Given the description of an element on the screen output the (x, y) to click on. 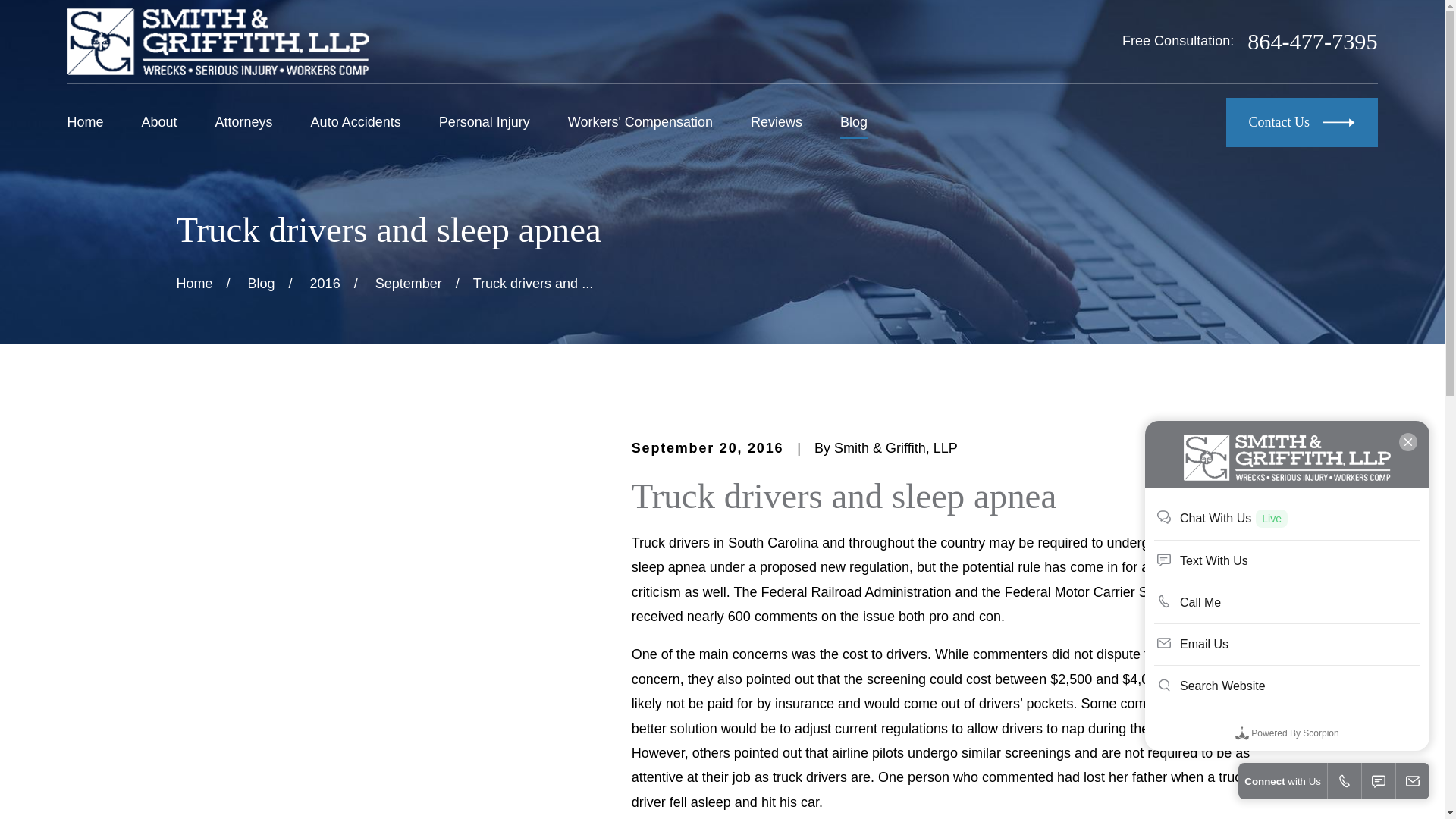
Workers' Compensation (640, 122)
Home (217, 41)
Go Home (194, 283)
Attorneys (244, 122)
864-477-7395 (1312, 41)
Auto Accidents (356, 122)
Personal Injury (484, 122)
